Given the description of an element on the screen output the (x, y) to click on. 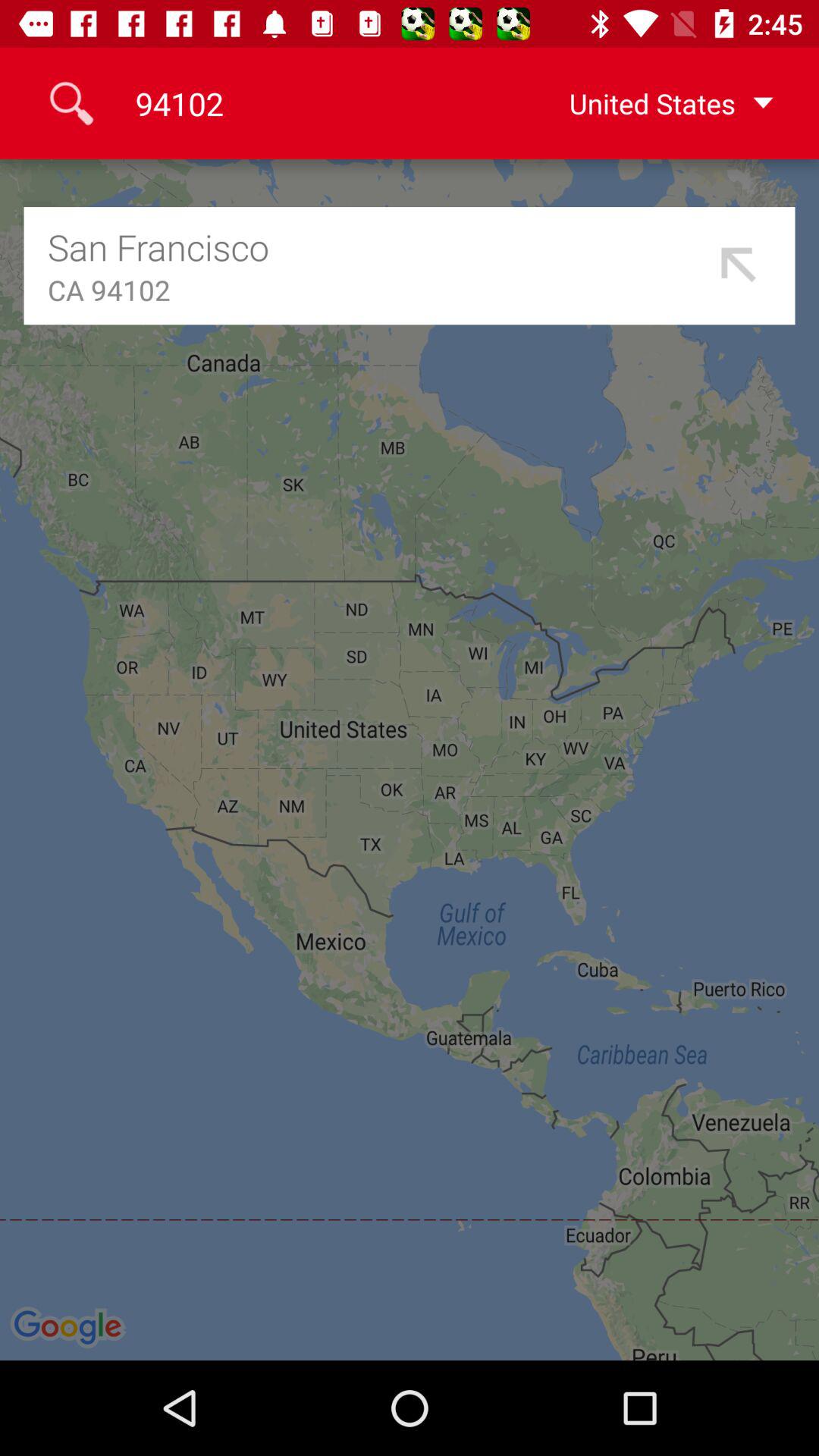
click the united states icon (647, 103)
